Given the description of an element on the screen output the (x, y) to click on. 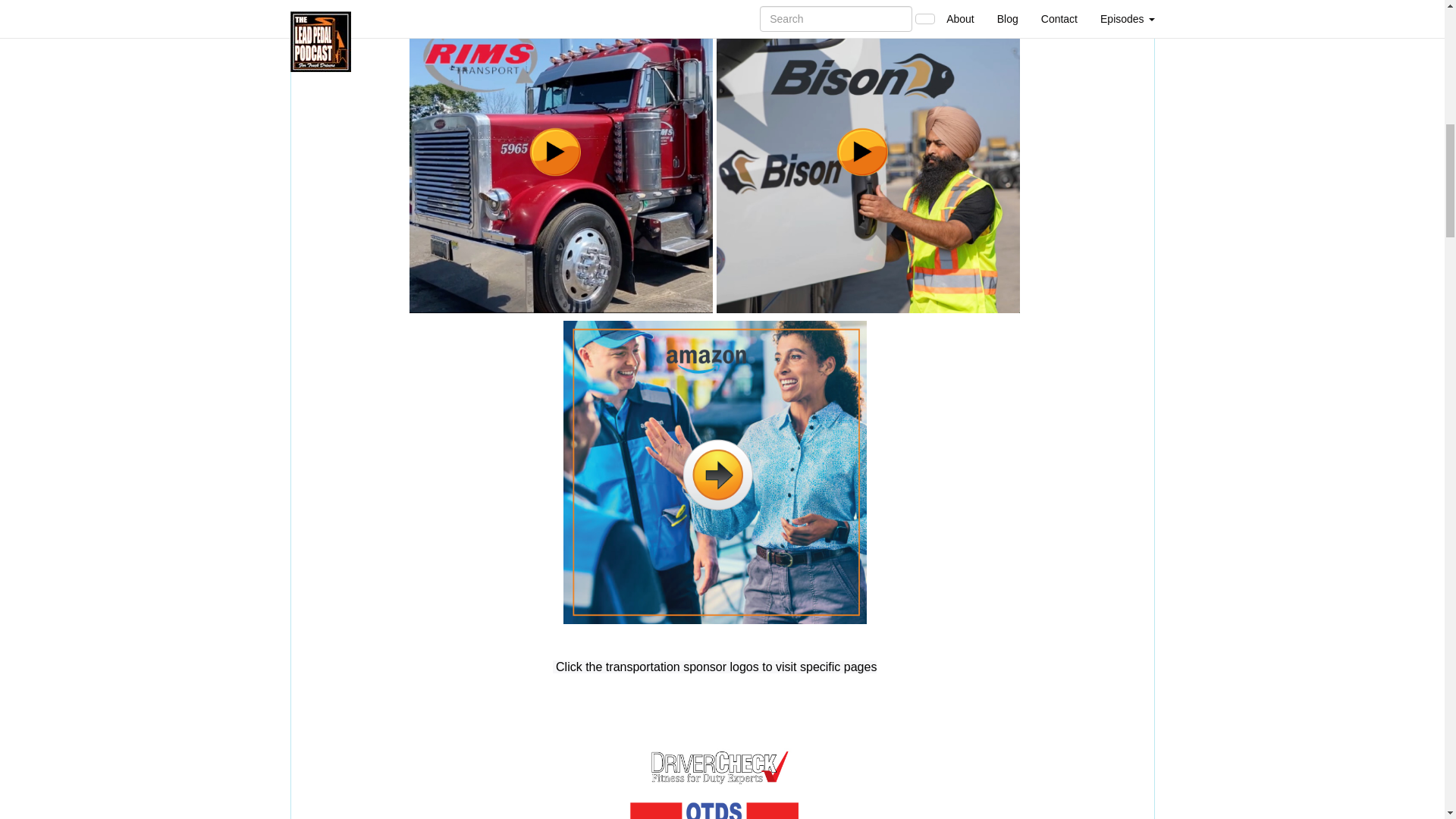
Rims Transport (561, 160)
Ontario Truck Driving School (713, 810)
DriverCheck (713, 766)
Bison Transport (868, 160)
Amazon Deliver Service Partners (714, 471)
